Given the description of an element on the screen output the (x, y) to click on. 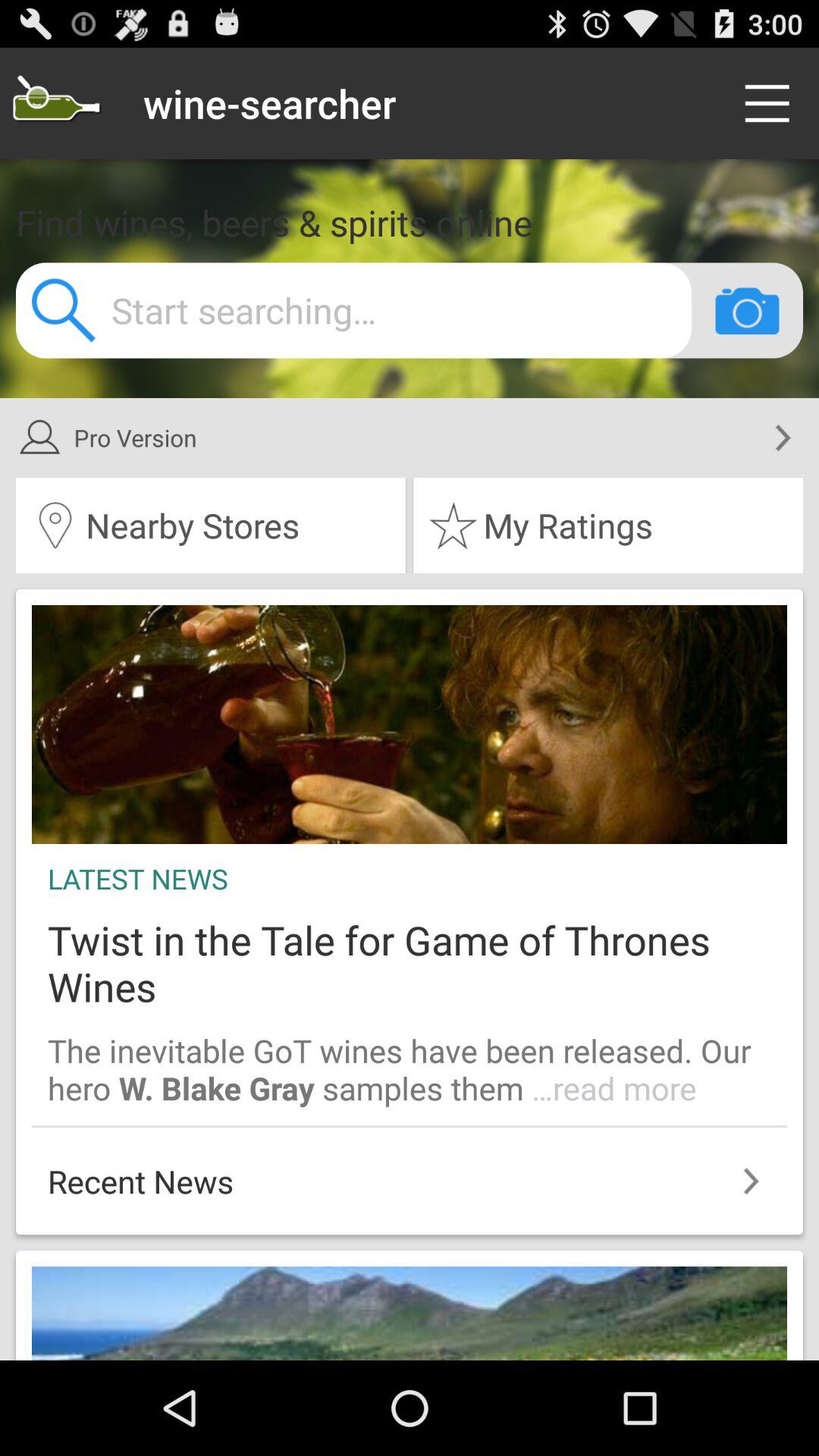
swipe to the nearby stores item (210, 525)
